Given the description of an element on the screen output the (x, y) to click on. 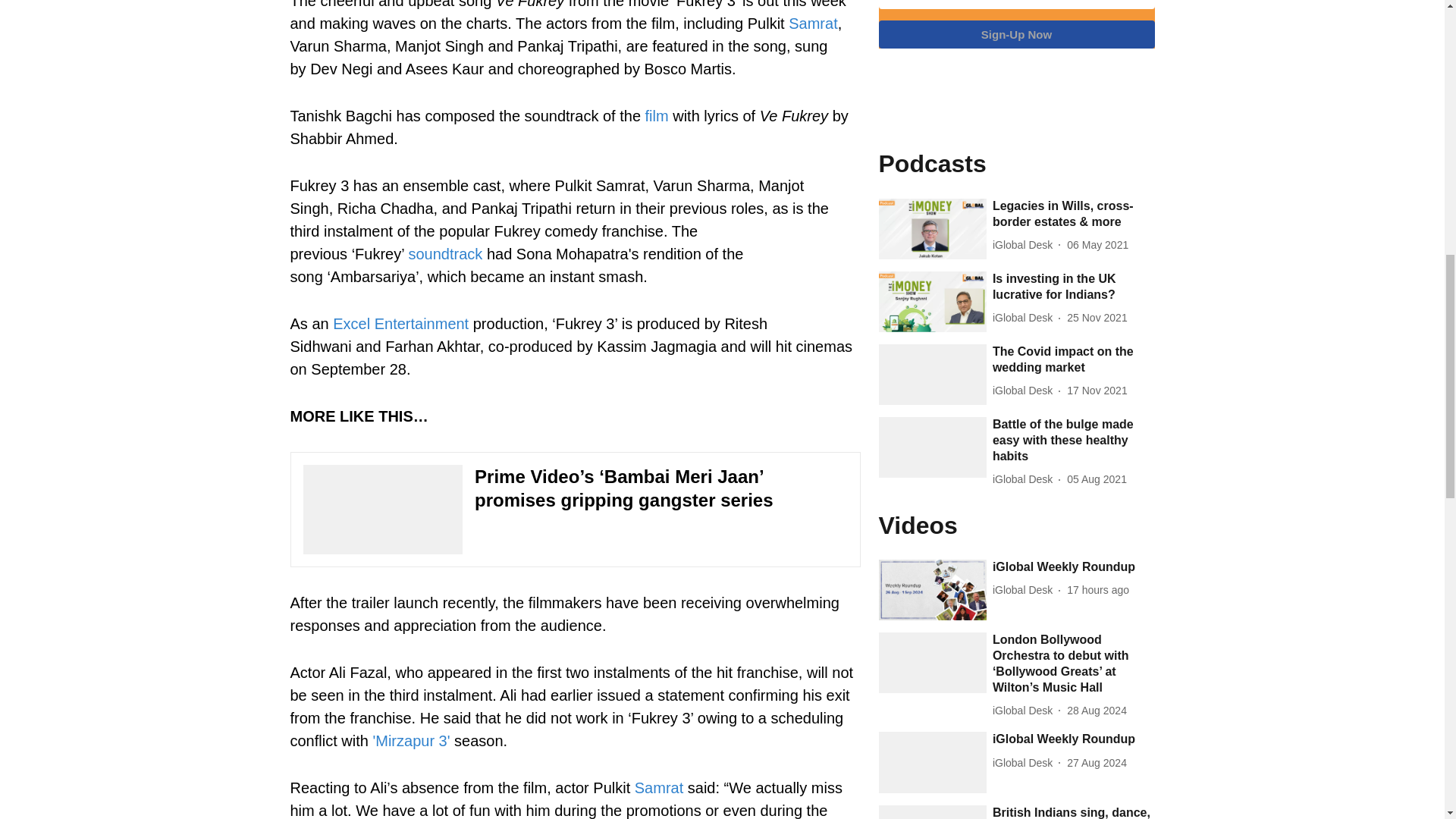
2021-11-25 11:43 (1096, 317)
2021-08-05 08:52 (1096, 479)
2021-11-17 11:00 (1096, 390)
2024-08-28 08:30 (1096, 710)
2021-05-06 08:46 (1097, 245)
2024-09-02 13:53 (1098, 590)
Sign-Up Now (1015, 34)
2024-08-27 10:24 (1096, 763)
